Given the description of an element on the screen output the (x, y) to click on. 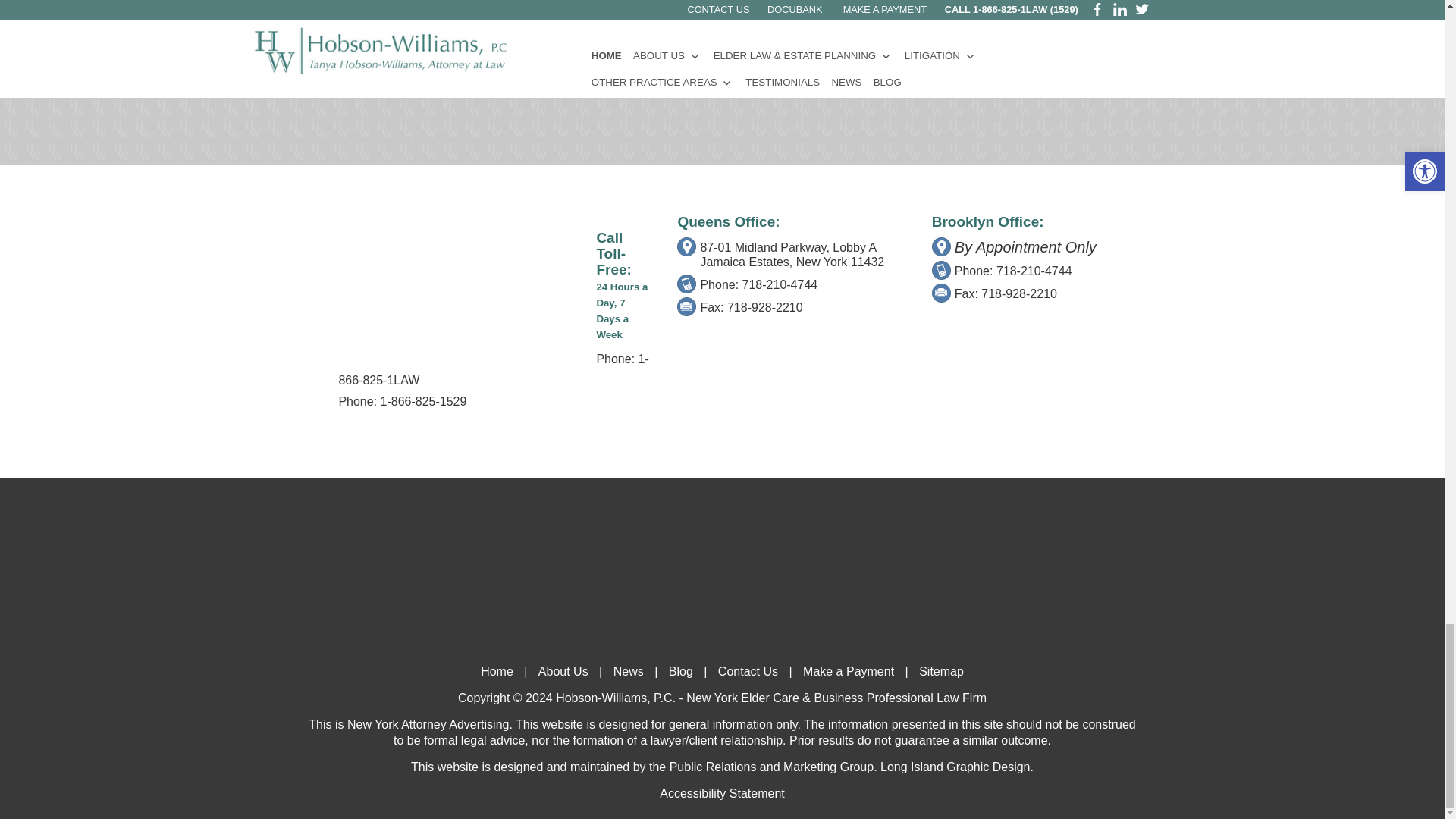
Landlord-Tenant Attorney Serving Queens Bronx Brooklyn (177, 2)
Women-Owned Law Firm (373, 101)
Litigator of the Year (228, 101)
Collections Attorney Serving Queens Bronx Brooklyn (899, 2)
Long Island's 50 Top Women (490, 101)
Business Law Attorney Serving Queens Bronx Brooklyn (538, 2)
